Given the description of an element on the screen output the (x, y) to click on. 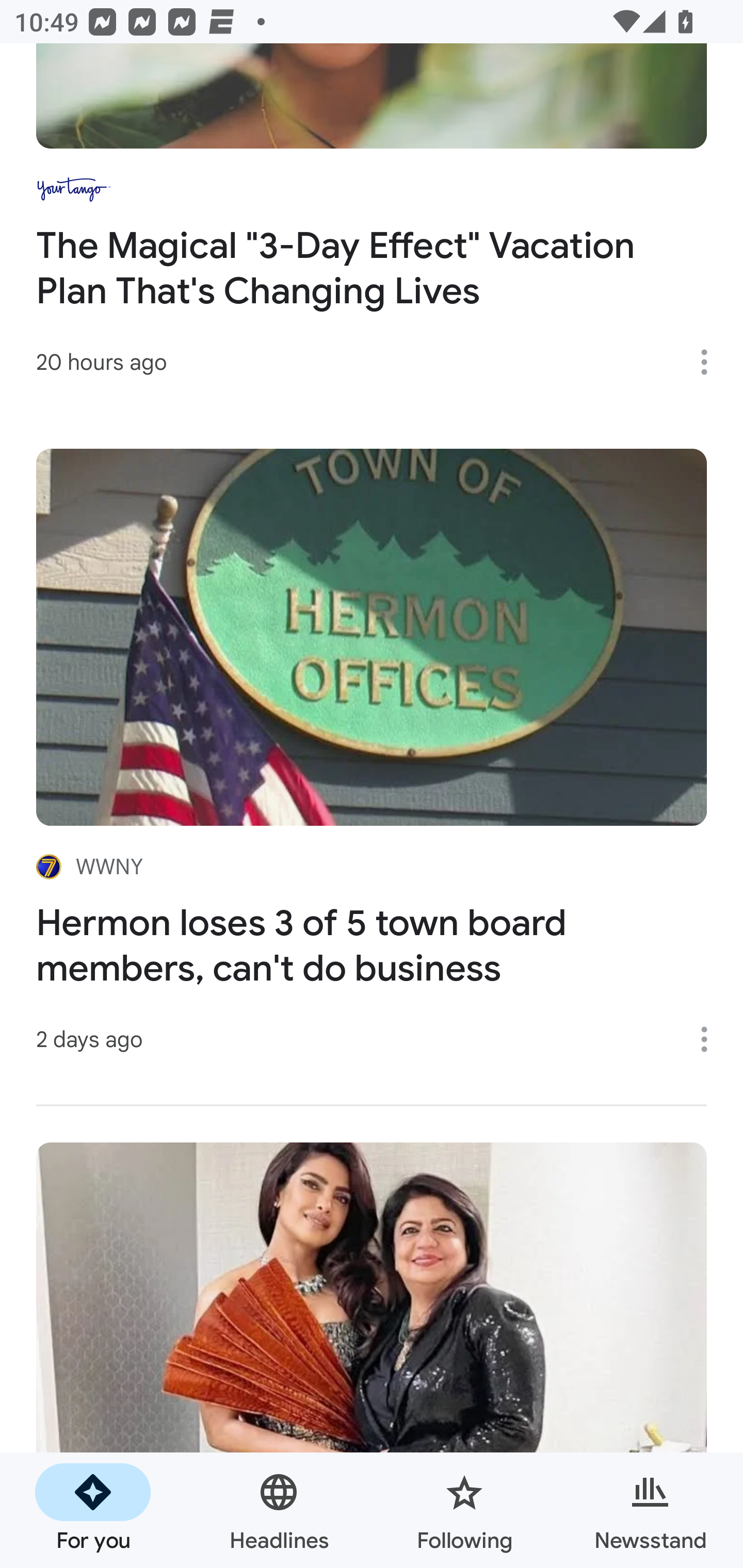
More options (711, 362)
More options (711, 1039)
Hindustan Times (371, 1355)
For you (92, 1509)
Headlines (278, 1509)
Following (464, 1509)
Newsstand (650, 1509)
